Given the description of an element on the screen output the (x, y) to click on. 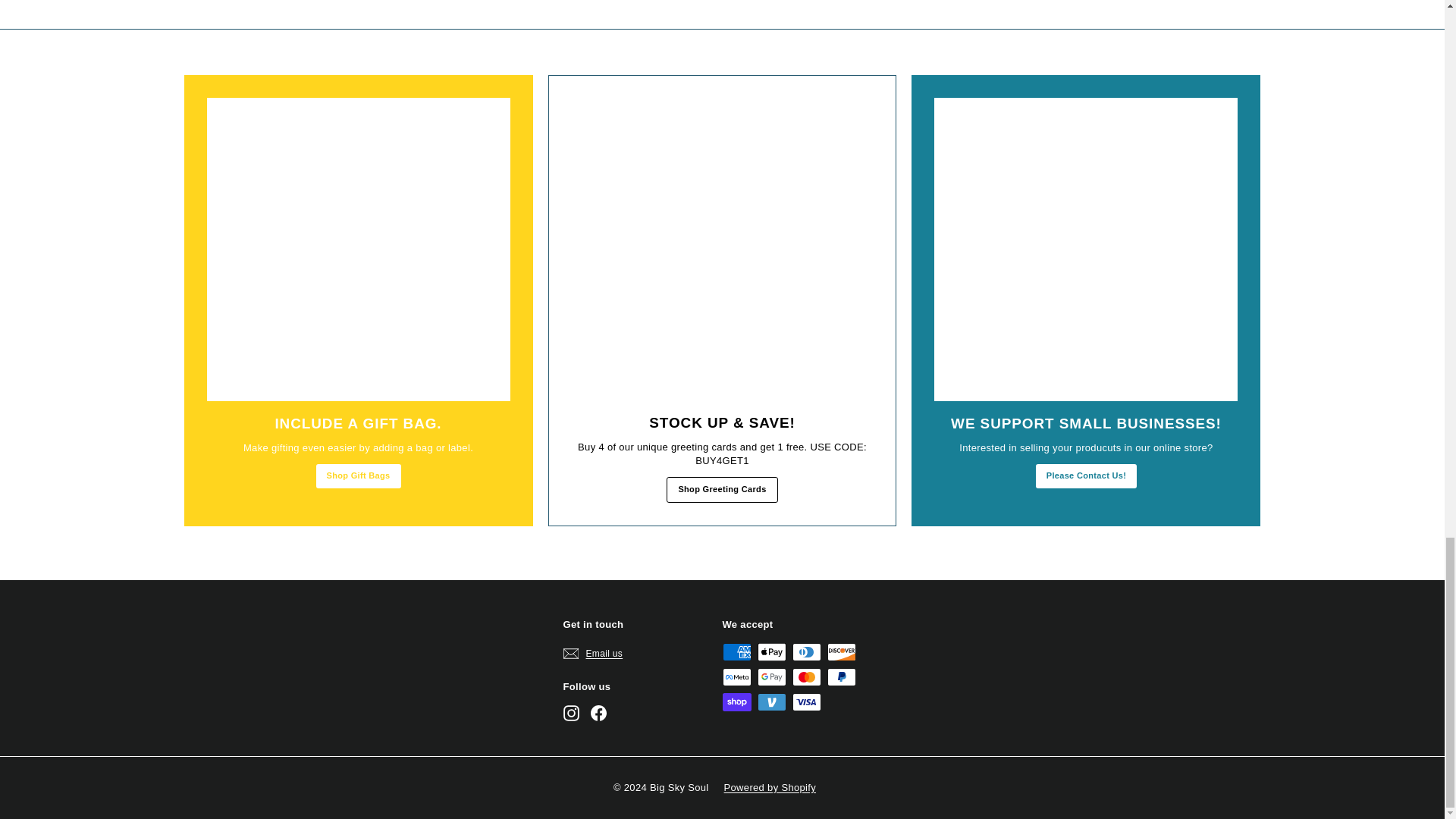
Diners Club (806, 651)
Apple Pay (771, 651)
American Express (736, 651)
